Given the description of an element on the screen output the (x, y) to click on. 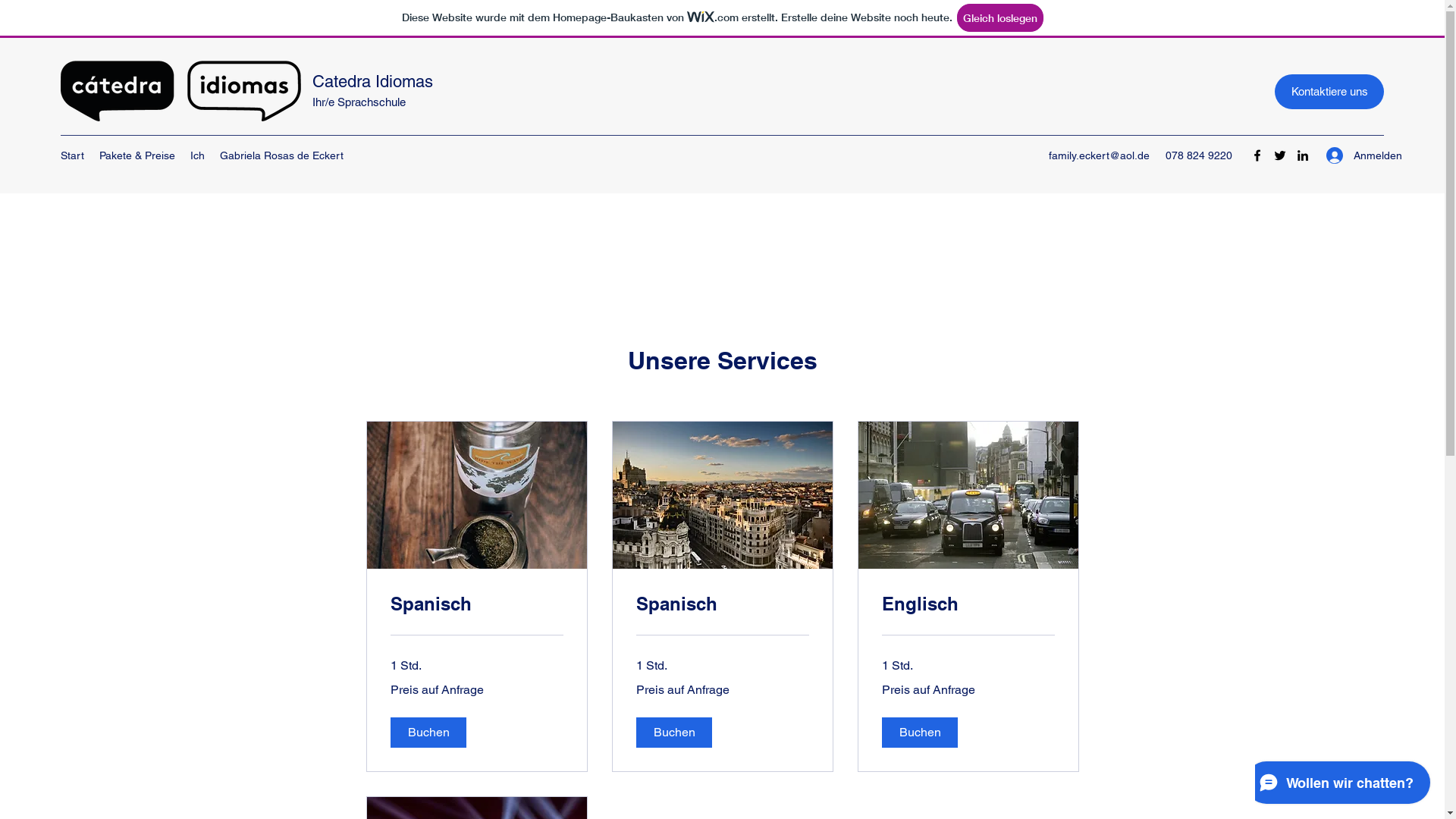
Catedra Idiomas Element type: text (372, 81)
Englisch Element type: text (967, 604)
Start Element type: text (72, 155)
Pakete & Preise Element type: text (136, 155)
Buchen Element type: text (919, 732)
Spanisch Element type: text (721, 604)
Gabriela Rosas de Eckert Element type: text (281, 155)
Spanisch Element type: text (475, 604)
Kontaktiere uns Element type: text (1328, 91)
Ich Element type: text (197, 155)
Buchen Element type: text (427, 732)
family.eckert@aol.de Element type: text (1098, 155)
Buchen Element type: text (673, 732)
Anmelden Element type: text (1349, 155)
